Given the description of an element on the screen output the (x, y) to click on. 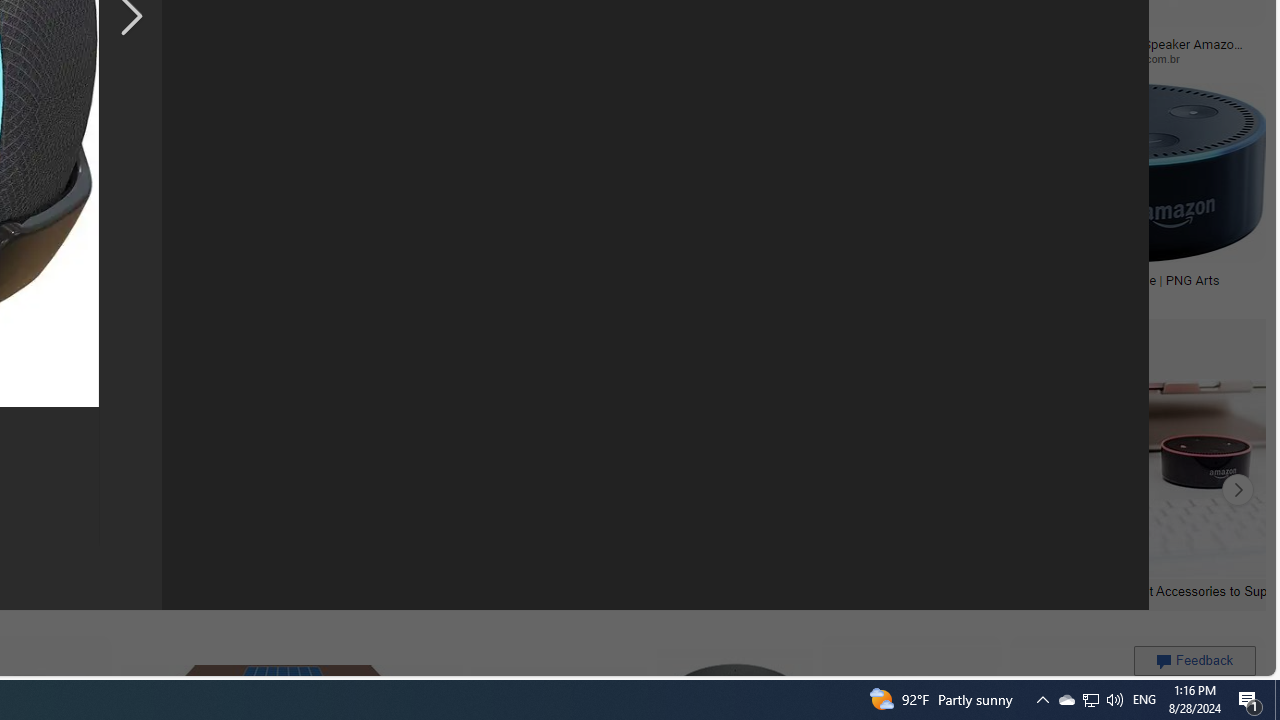
Feedback (1194, 660)
energyearth.com (84, 294)
Amazonecho Dot With Alexa (Gen 4) (812, 279)
amazon.com.mx (538, 58)
Amazon.com: echo dot accessories (909, 589)
Amazon Echo - Always ready, connected and fast. Just ask. (603, 286)
skroutz.gr (253, 294)
Alexa Dot Transparent Image | PNG Arts (1123, 279)
pngkey.com (139, 57)
